Given the description of an element on the screen output the (x, y) to click on. 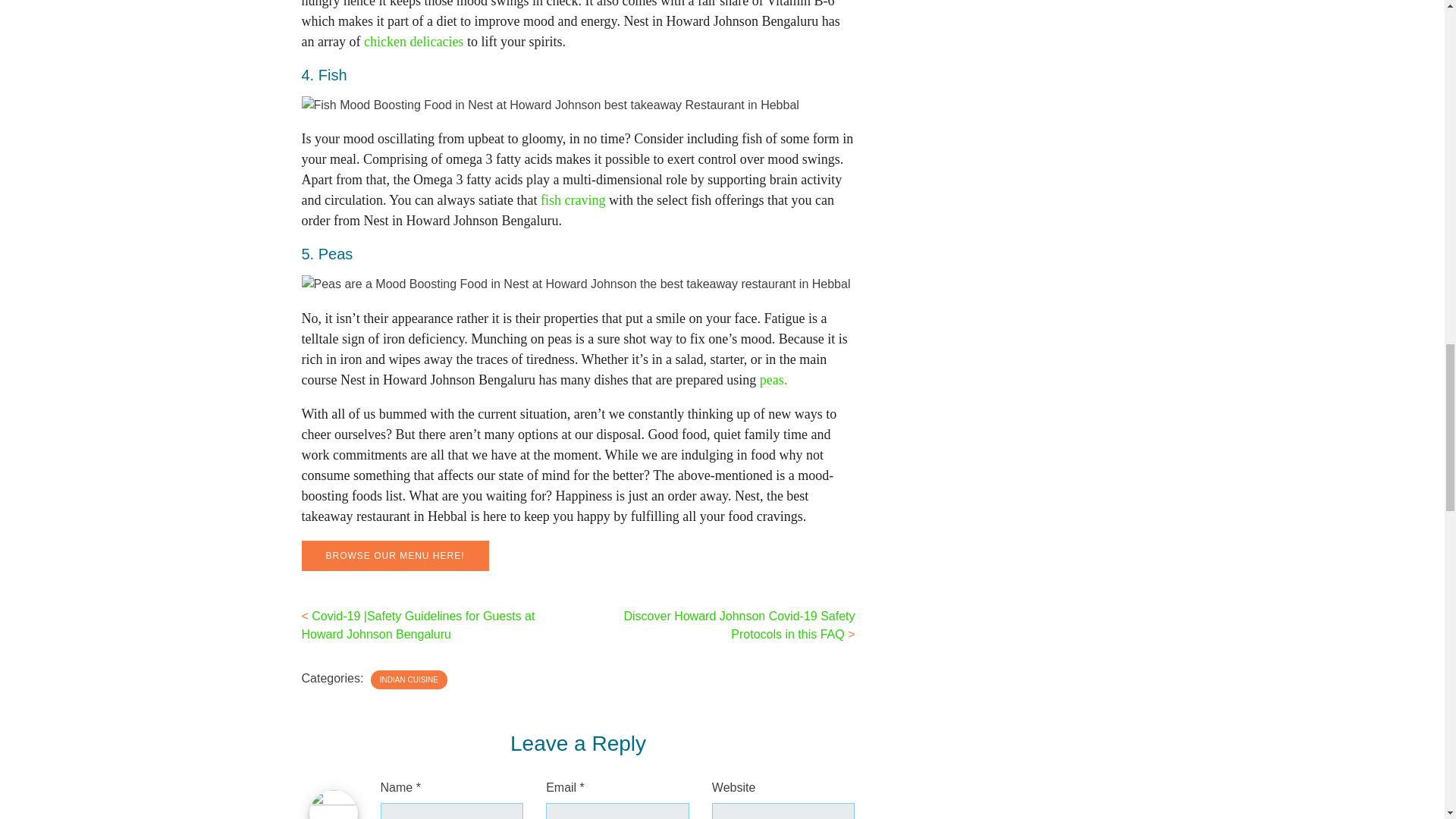
fish craving (572, 200)
BROWSE OUR MENU HERE! (395, 554)
peas. (773, 378)
chicken delicacies (415, 41)
